Given the description of an element on the screen output the (x, y) to click on. 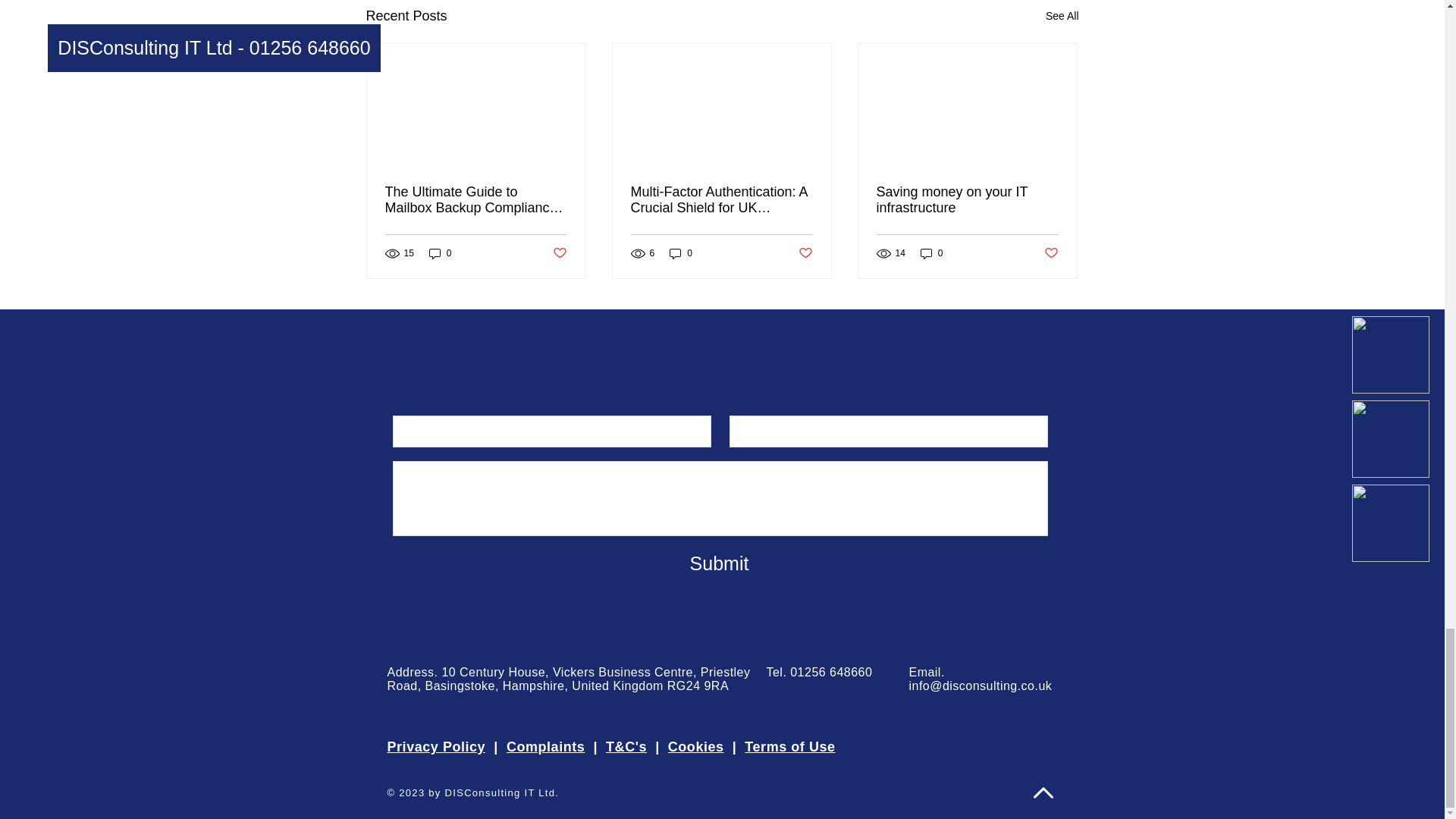
0 (681, 253)
Complaints (545, 746)
Privacy Policy (435, 746)
Submit (719, 562)
Post not marked as liked (1050, 253)
0 (931, 253)
Post not marked as liked (558, 253)
See All (1061, 15)
Post not marked as liked (804, 253)
Cookies (695, 746)
Saving money on your IT infrastructure (967, 200)
0 (440, 253)
